Given the description of an element on the screen output the (x, y) to click on. 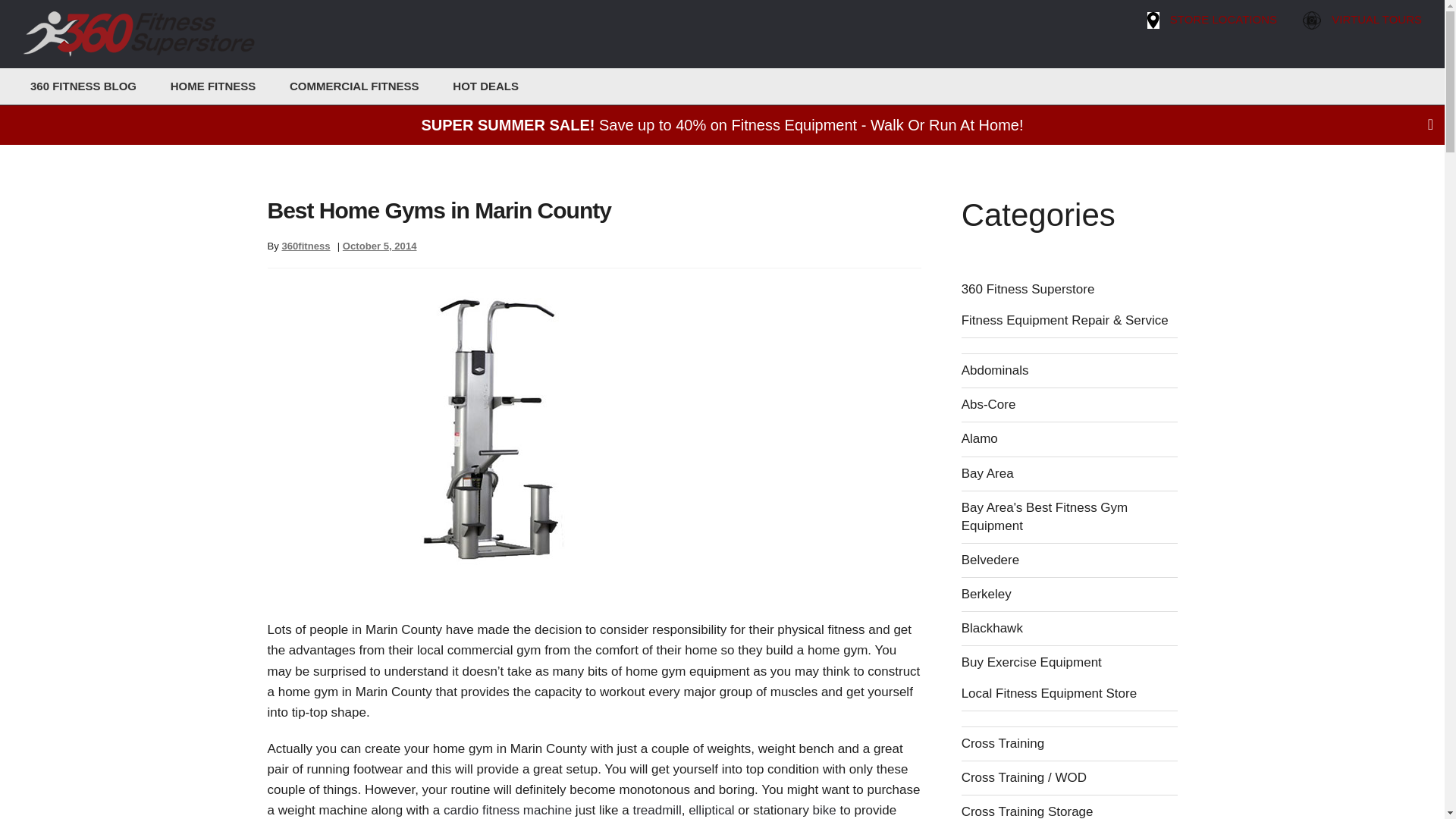
VIRTUAL TOURS (1372, 19)
HOME FITNESS (197, 85)
360 FITNESS BLOG (79, 85)
STORE LOCATIONS (1222, 19)
